Given the description of an element on the screen output the (x, y) to click on. 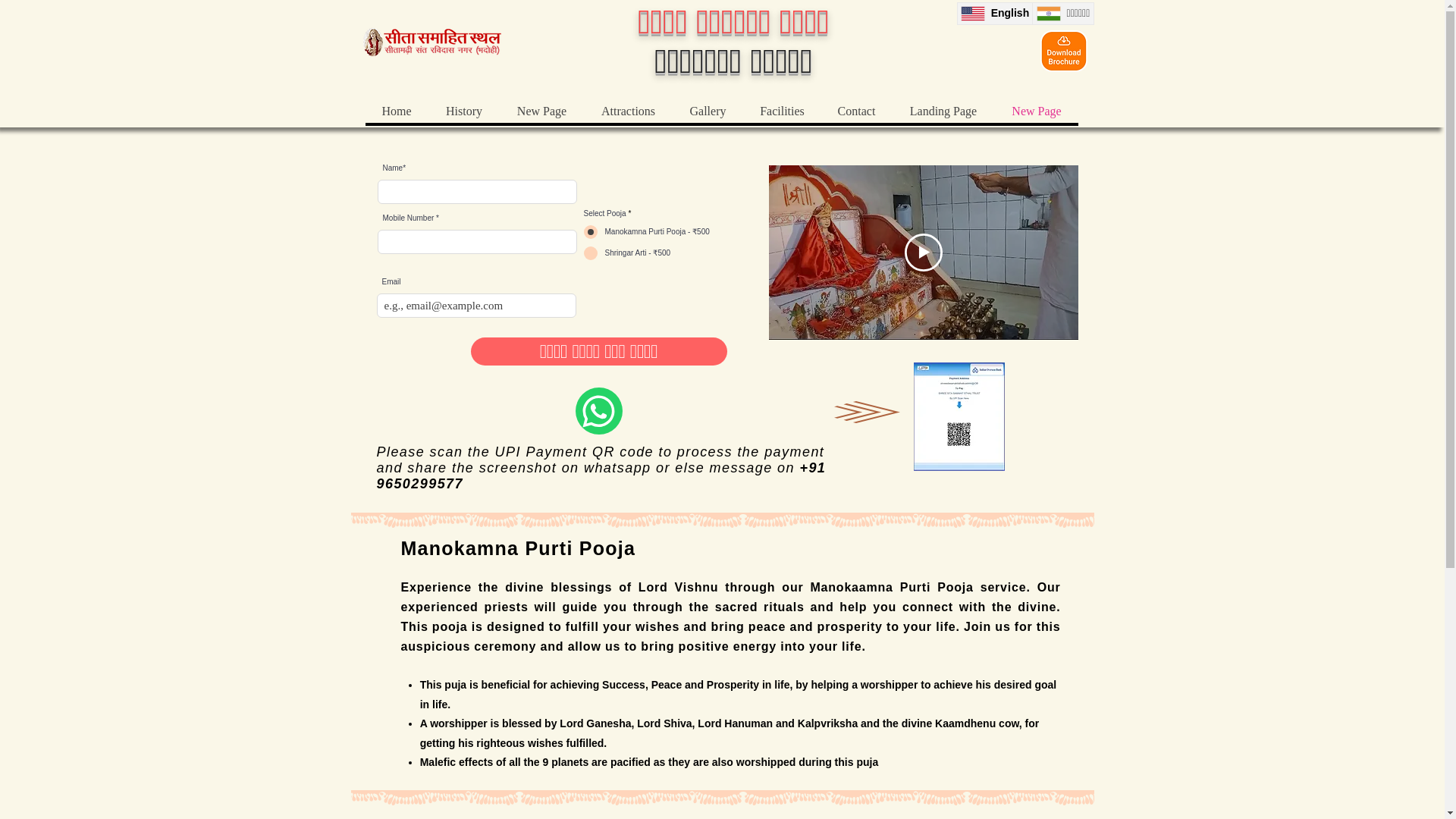
Home (396, 110)
New Page (1036, 110)
History (463, 110)
Landing Page (942, 110)
Facilities (781, 110)
English (994, 13)
New Page (541, 110)
Attractions (627, 110)
Contact (856, 110)
Gallery (706, 110)
